Given the description of an element on the screen output the (x, y) to click on. 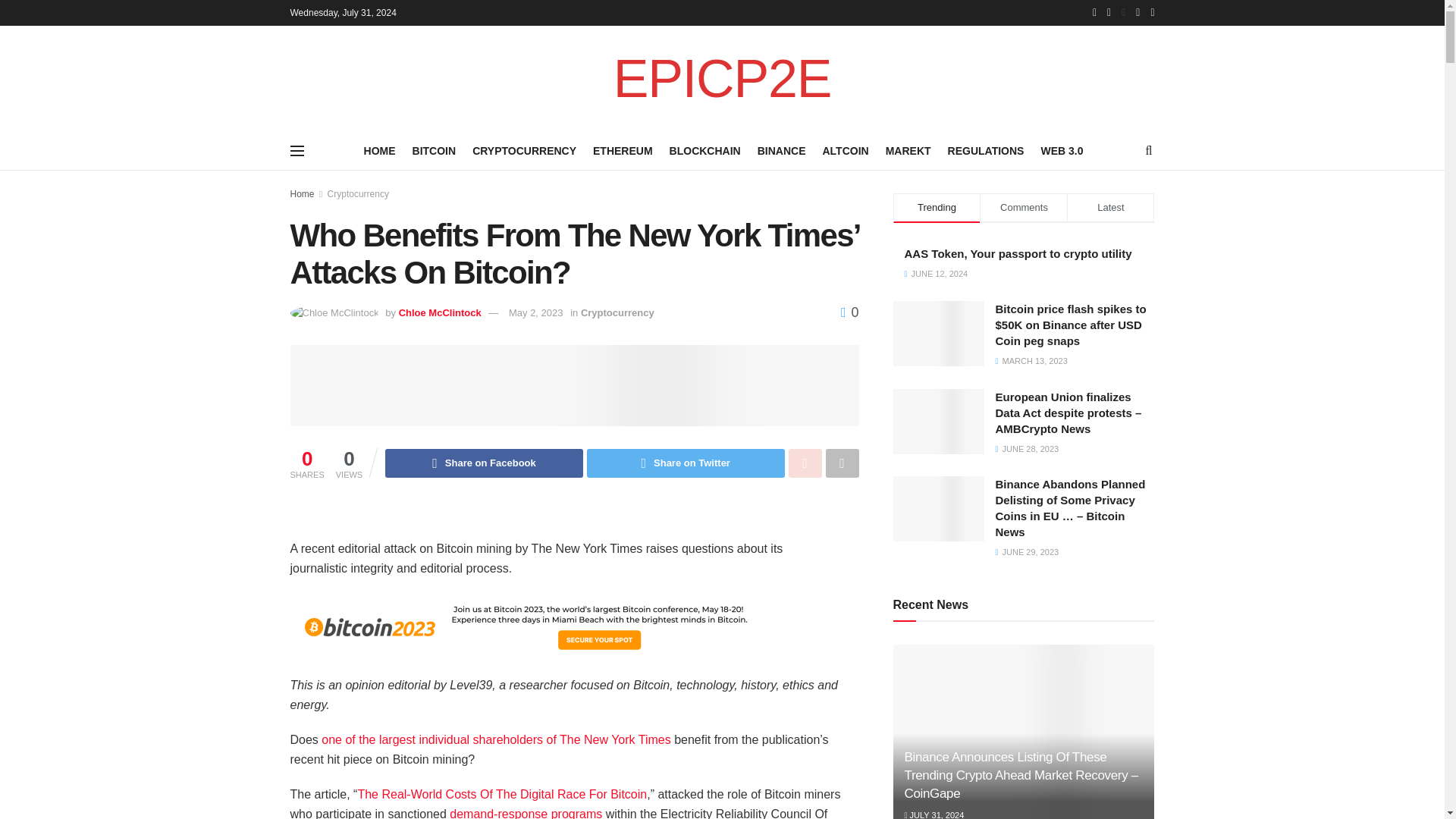
0 (850, 312)
Share on Facebook (484, 462)
The Real-World Costs Of The Digital Race For Bitcoin (501, 793)
May 2, 2023 (535, 312)
Cryptocurrency (616, 312)
HOME (380, 150)
CRYPTOCURRENCY (523, 150)
ALTCOIN (844, 150)
BINANCE (781, 150)
Home (301, 194)
Share on Twitter (685, 462)
Chloe McClintock (439, 312)
MAREKT (908, 150)
WEB 3.0 (1062, 150)
